Given the description of an element on the screen output the (x, y) to click on. 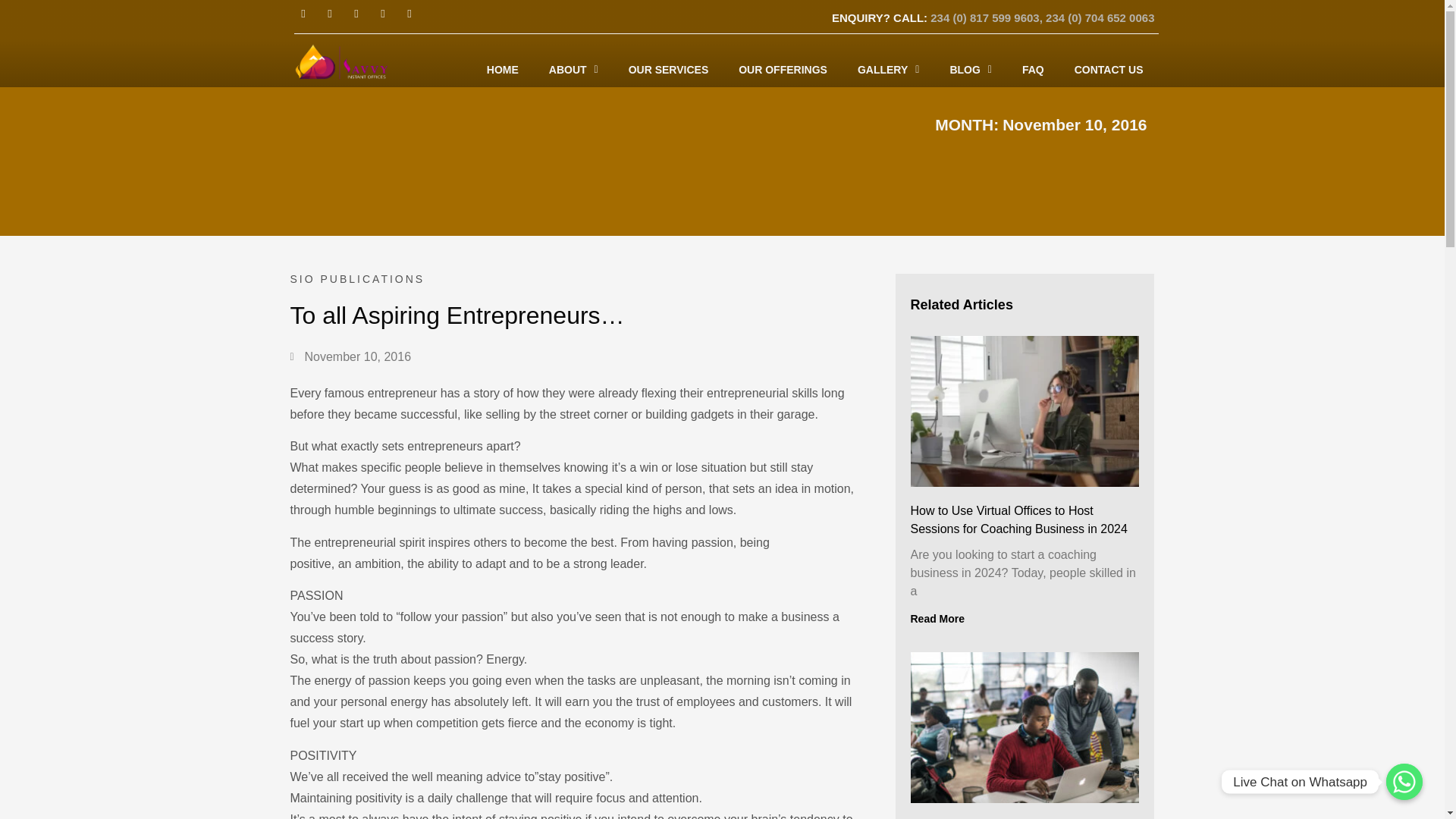
HOME (502, 69)
BLOG (970, 69)
OUR OFFERINGS (783, 69)
ABOUT (573, 69)
FAQ (1033, 69)
CONTACT US (1108, 69)
OUR SERVICES (667, 69)
GALLERY (888, 69)
